Given the description of an element on the screen output the (x, y) to click on. 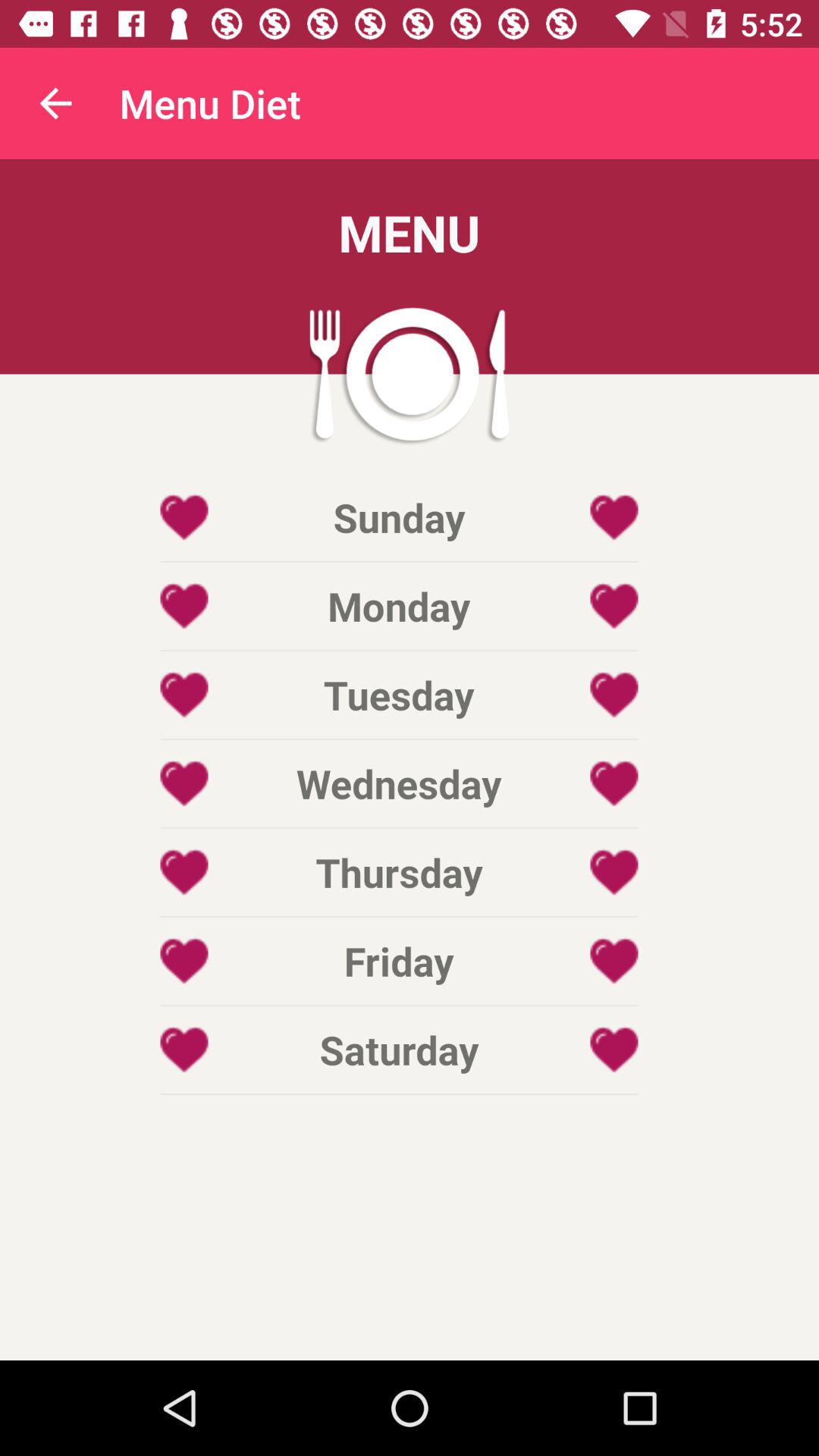
scroll to friday icon (398, 960)
